Given the description of an element on the screen output the (x, y) to click on. 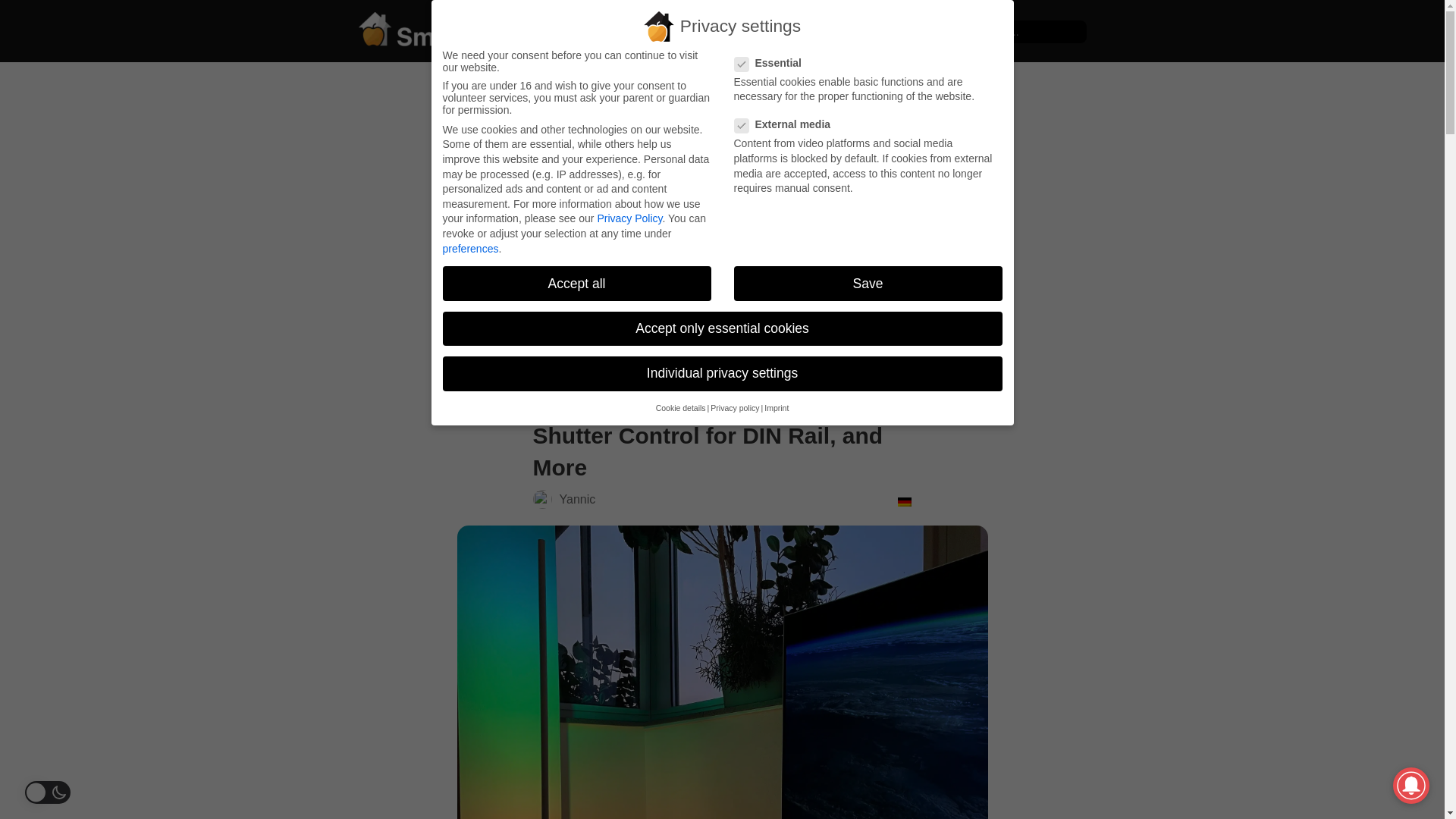
Save (868, 283)
Today (948, 30)
Search (39, 16)
Roundup (555, 303)
preferences (470, 248)
Accept all (576, 283)
Privacy Policy (629, 218)
